Given the description of an element on the screen output the (x, y) to click on. 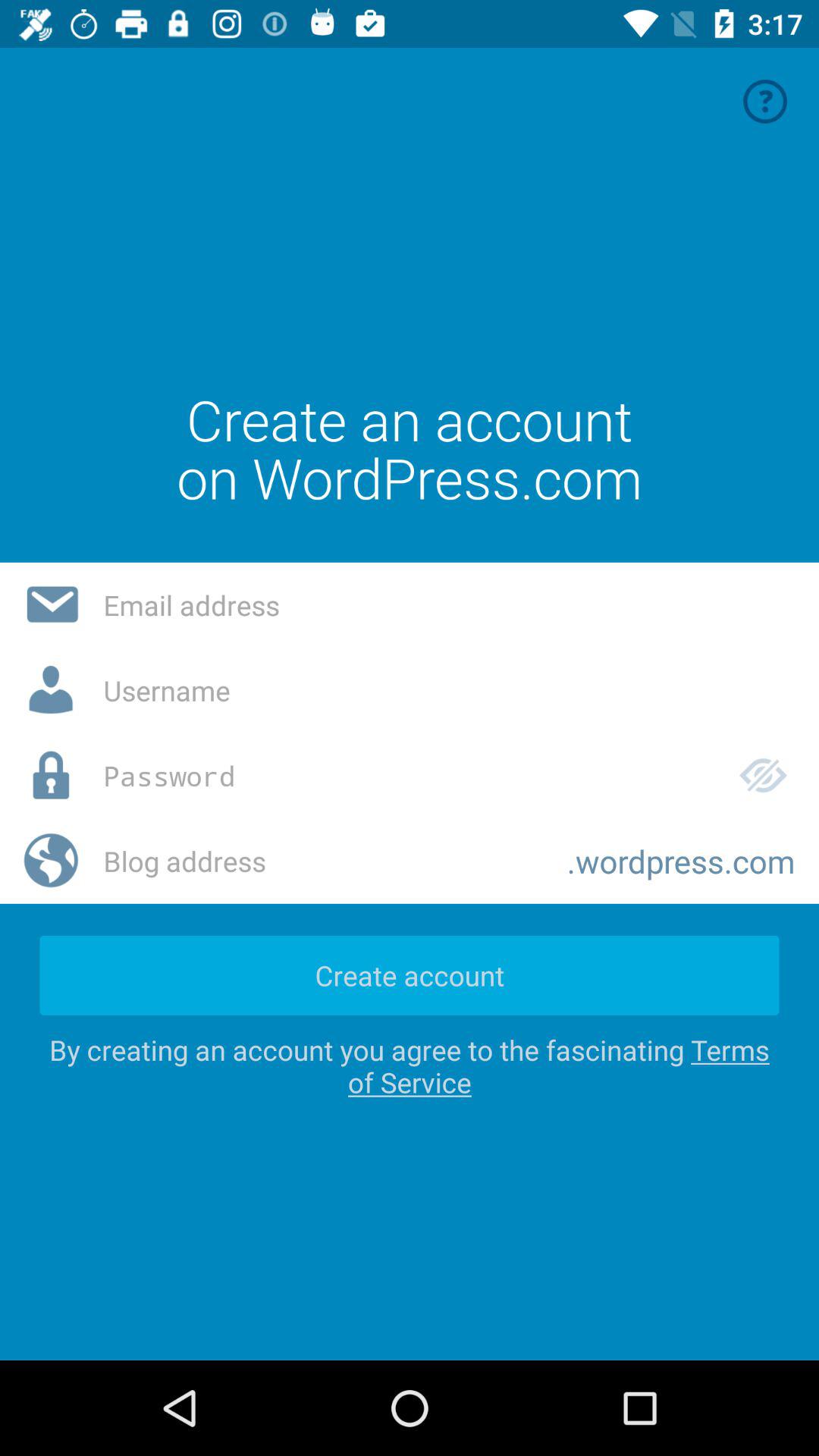
select username (449, 690)
click the username icon (51, 690)
select the lock icon (51, 776)
click on create account (409, 975)
click on the icon which is right to the password (763, 775)
select the text which is below the create account (409, 1065)
